Given the description of an element on the screen output the (x, y) to click on. 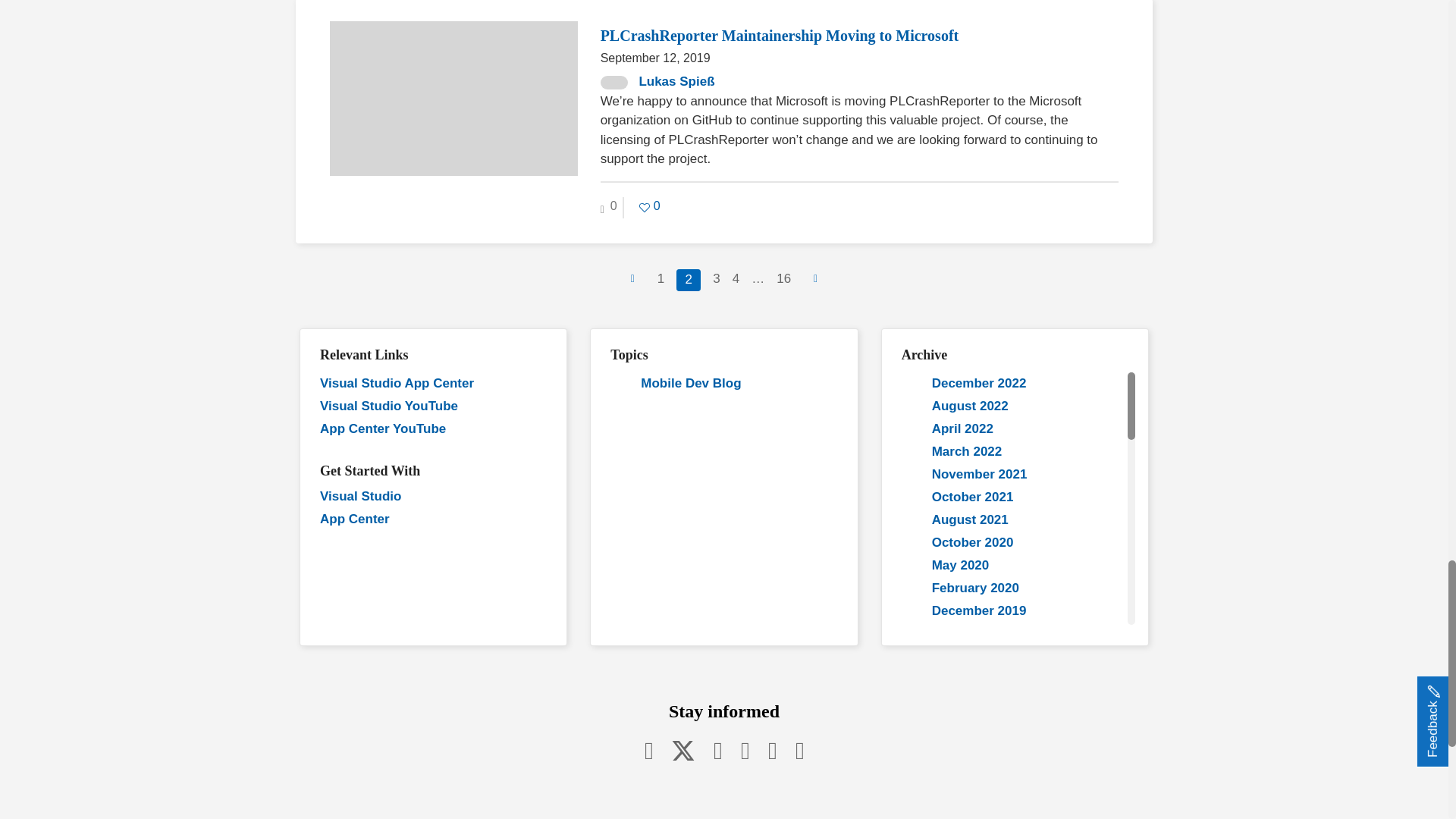
facebook (648, 749)
twitch (772, 749)
RSS Feed (799, 749)
youtube (745, 749)
linkedin (718, 749)
twitter (683, 749)
